Given the description of an element on the screen output the (x, y) to click on. 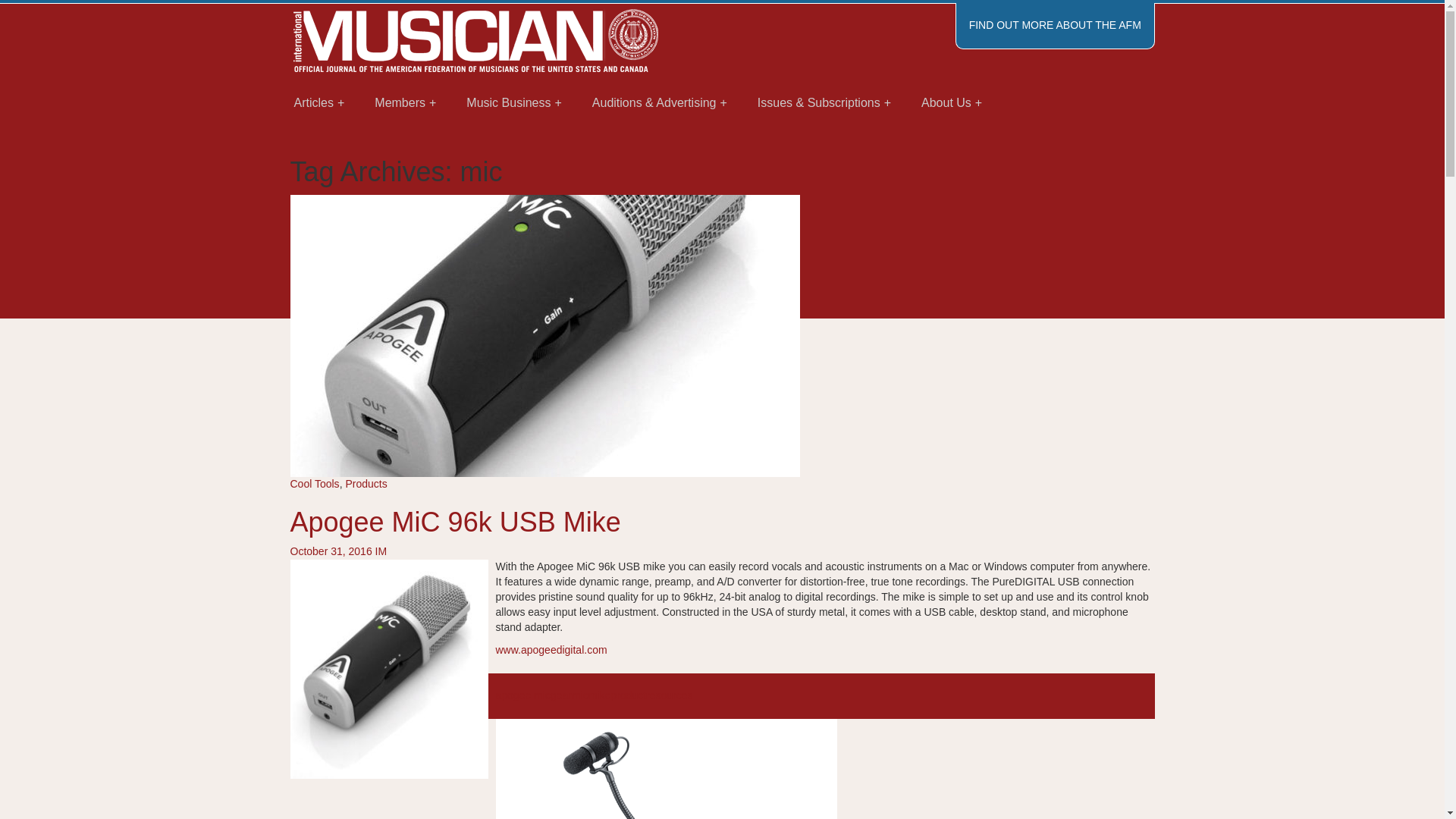
Music Business (513, 102)
About Us (951, 102)
Articles (319, 102)
Members (405, 102)
